Given the description of an element on the screen output the (x, y) to click on. 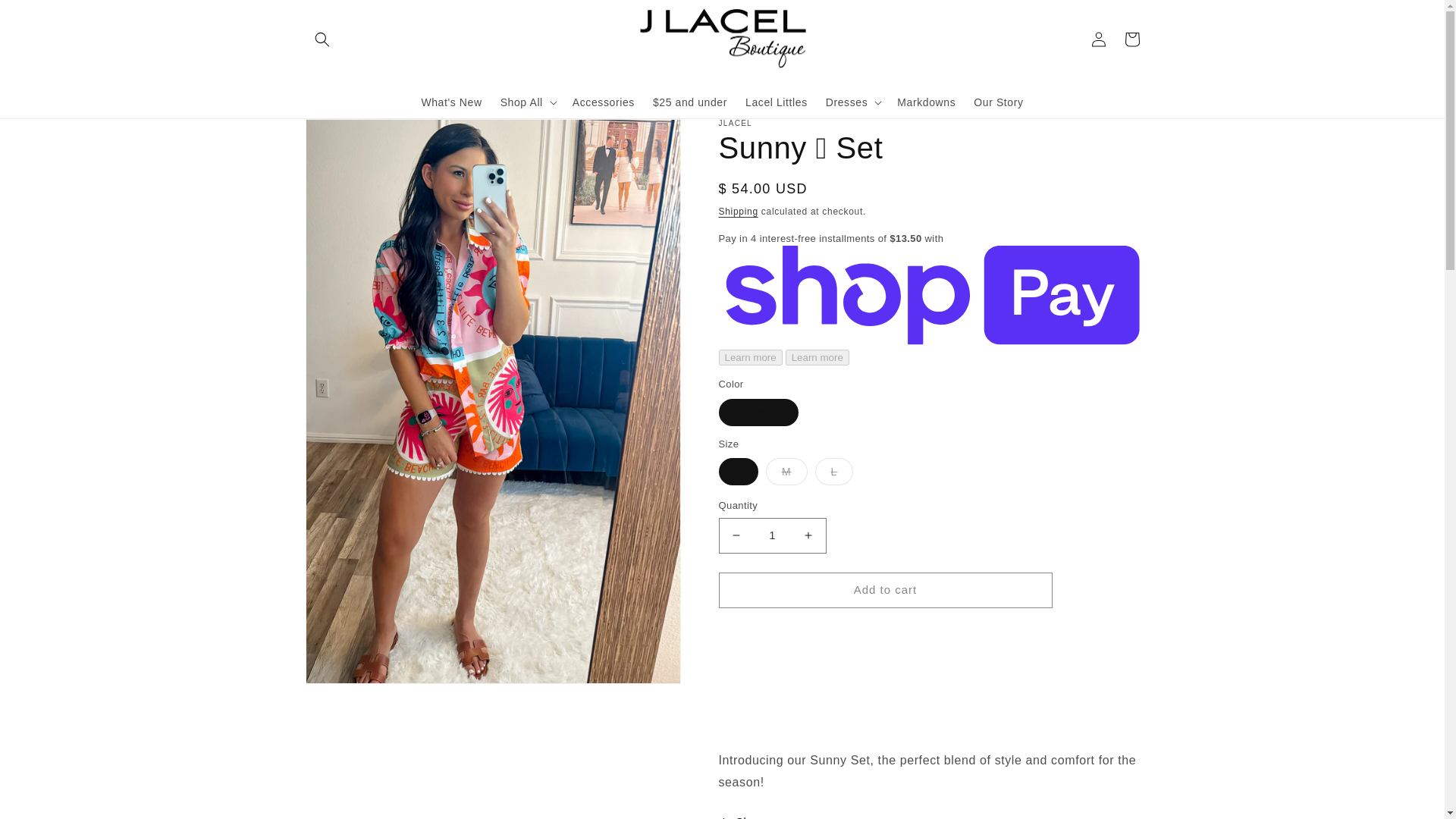
Skip to content (45, 17)
1 (773, 535)
